Given the description of an element on the screen output the (x, y) to click on. 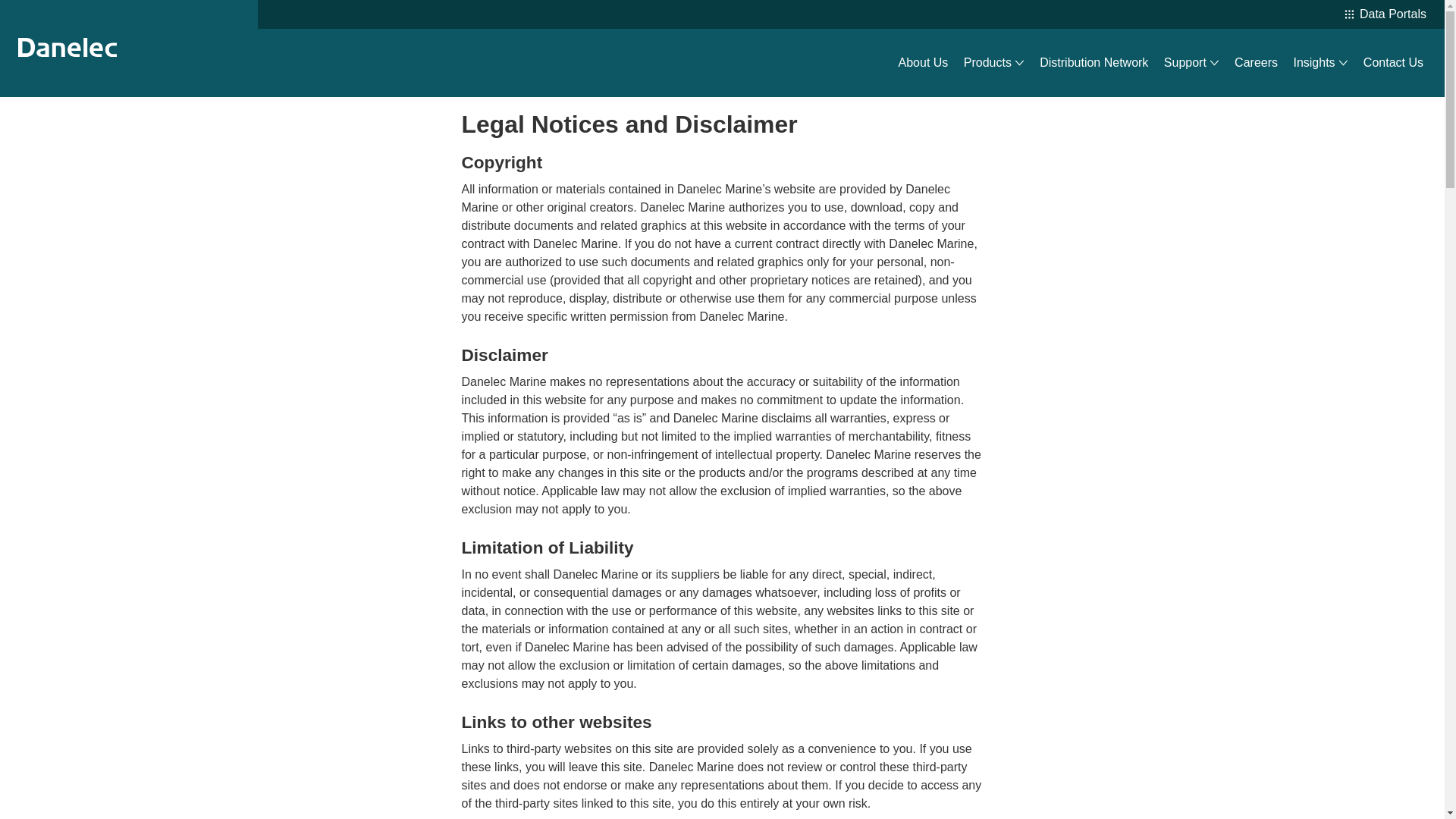
Distribution Network (1093, 63)
Contact Us (1392, 63)
Careers (1256, 63)
About Us (923, 63)
